Given the description of an element on the screen output the (x, y) to click on. 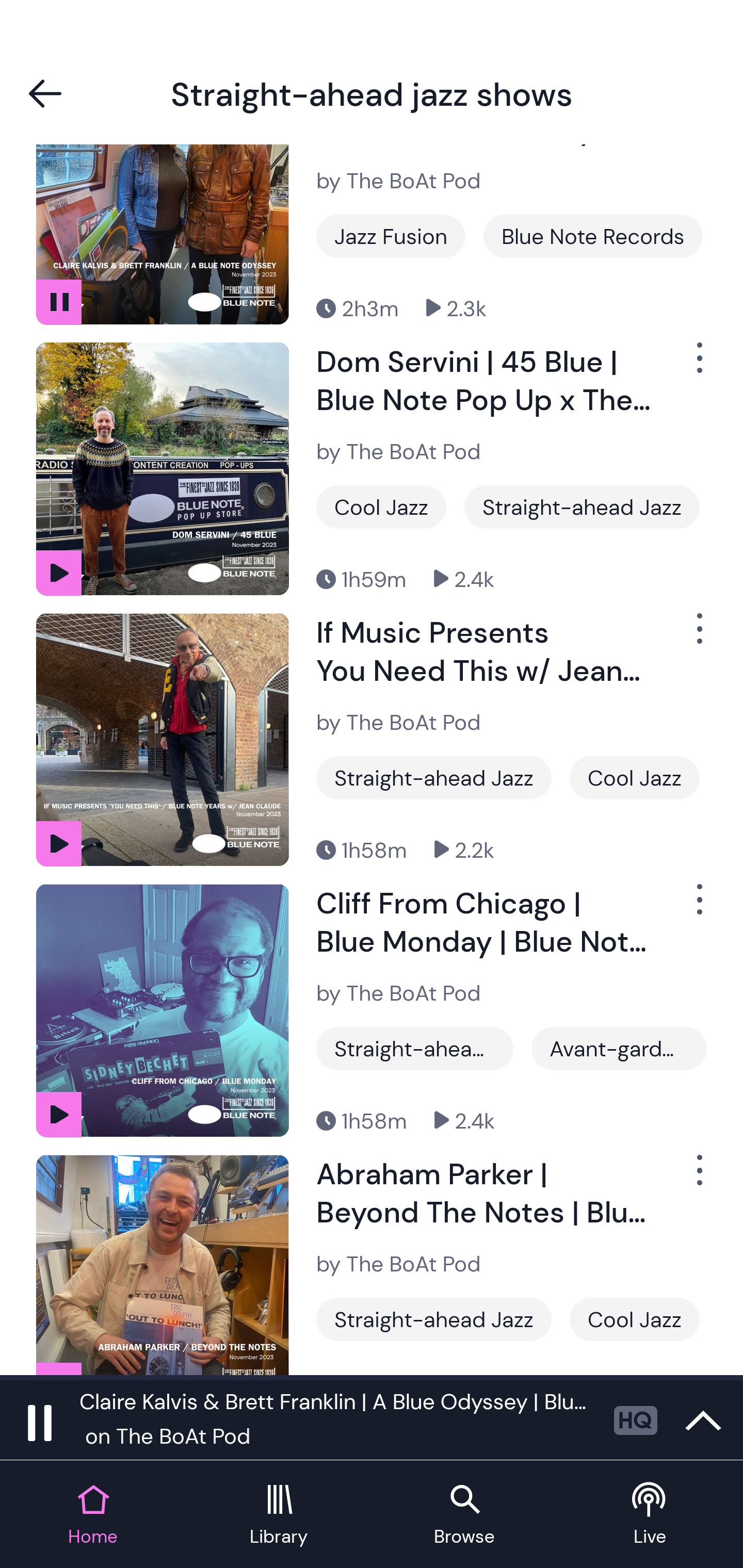
Jazz Fusion (390, 235)
Blue Note Records (592, 235)
Show Options Menu Button (697, 364)
Cool Jazz (381, 507)
Straight-ahead Jazz (581, 507)
Show Options Menu Button (697, 636)
Straight-ahead Jazz (433, 777)
Cool Jazz (634, 777)
Show Options Menu Button (697, 907)
Straight-ahead Jazz (414, 1048)
Avant-garde Jazz (618, 1048)
Show Options Menu Button (697, 1178)
Straight-ahead Jazz (433, 1319)
Cool Jazz (634, 1319)
Home tab Home (92, 1515)
Library tab Library (278, 1515)
Browse tab Browse (464, 1515)
Live tab Live (650, 1515)
